Given the description of an element on the screen output the (x, y) to click on. 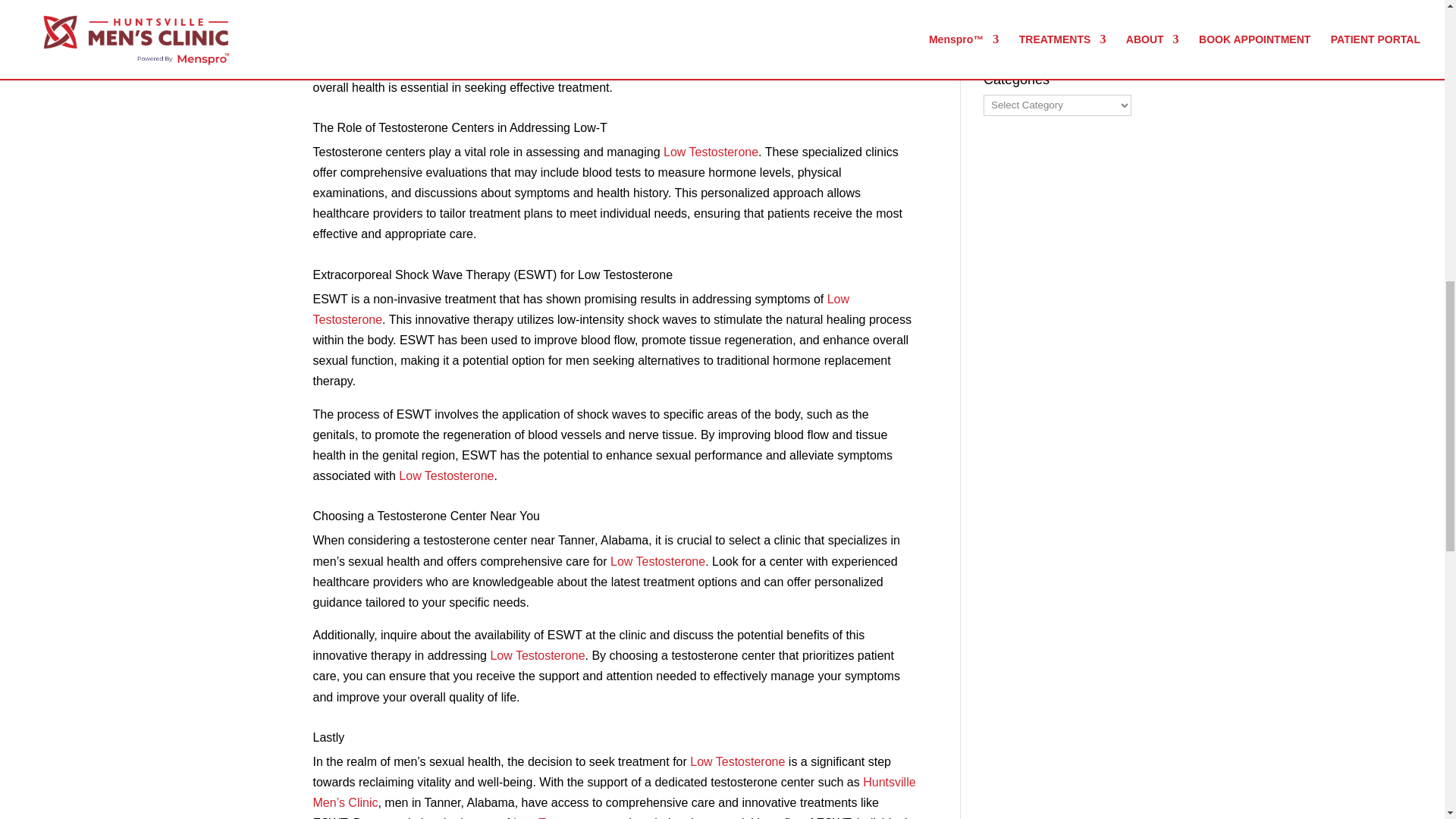
LOW-T LINK (710, 151)
LOW-T LINK (360, 5)
LOW-T LINK (770, 65)
LOW-T LINK (398, 65)
ED Link (608, 24)
LOW-T LINK (580, 308)
